Given the description of an element on the screen output the (x, y) to click on. 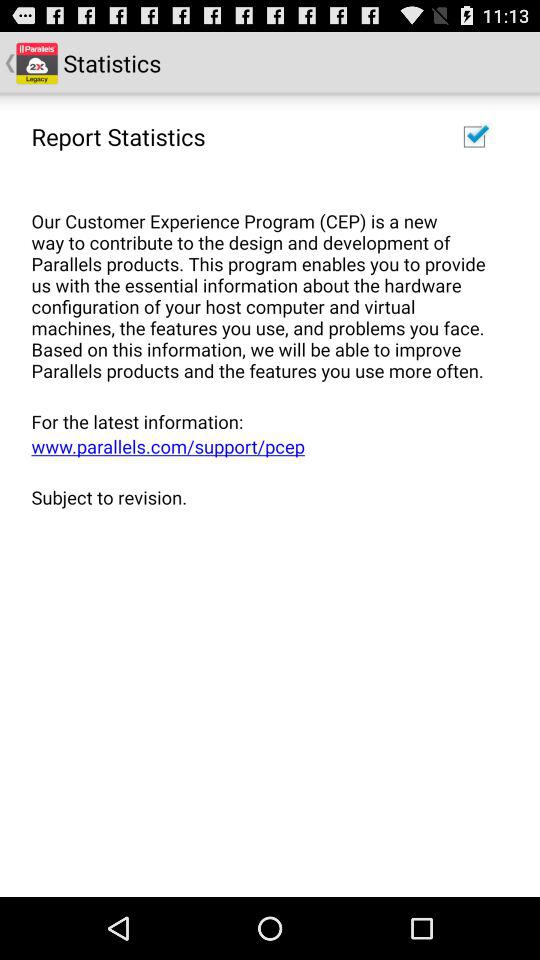
choose the app below the www parallels com icon (263, 496)
